Given the description of an element on the screen output the (x, y) to click on. 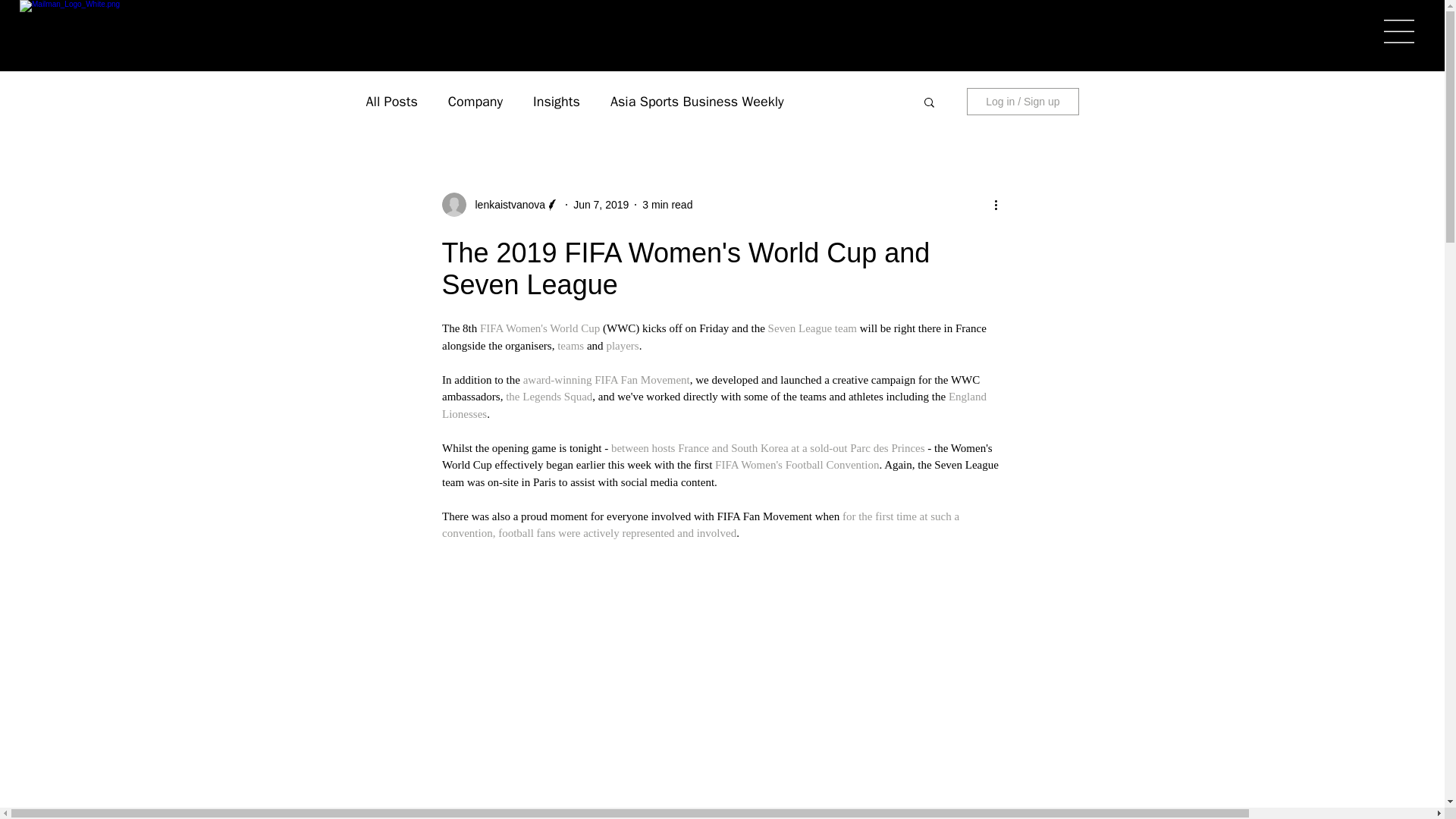
Insights (555, 101)
FIFA Fan Movement (642, 378)
players (622, 345)
the Legends Squad (548, 396)
Jun 7, 2019 (600, 204)
Company (475, 101)
FIFA Women's Football Convention (796, 464)
teams (570, 345)
3 min read (667, 204)
